Given the description of an element on the screen output the (x, y) to click on. 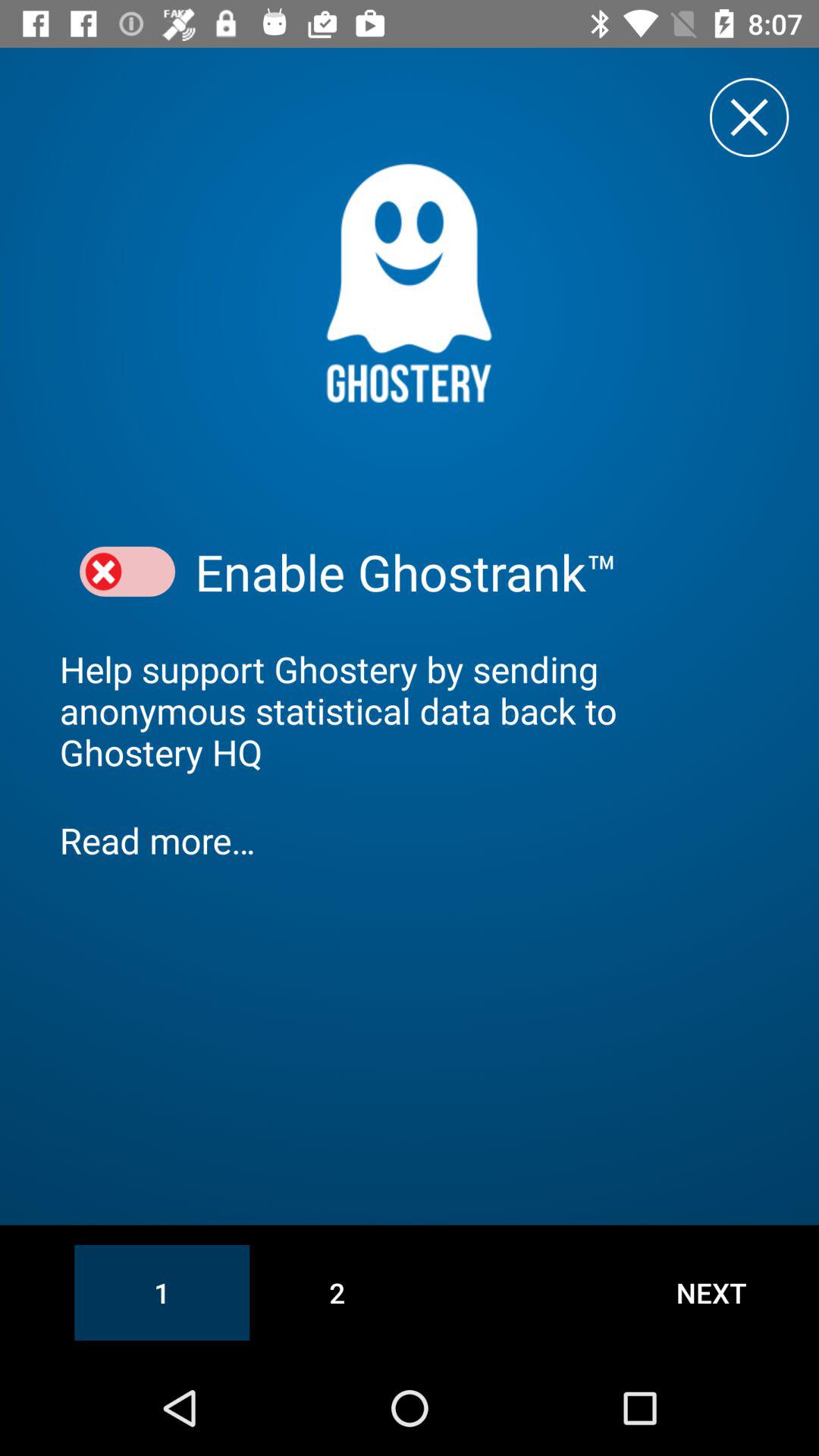
close option (127, 571)
